Given the description of an element on the screen output the (x, y) to click on. 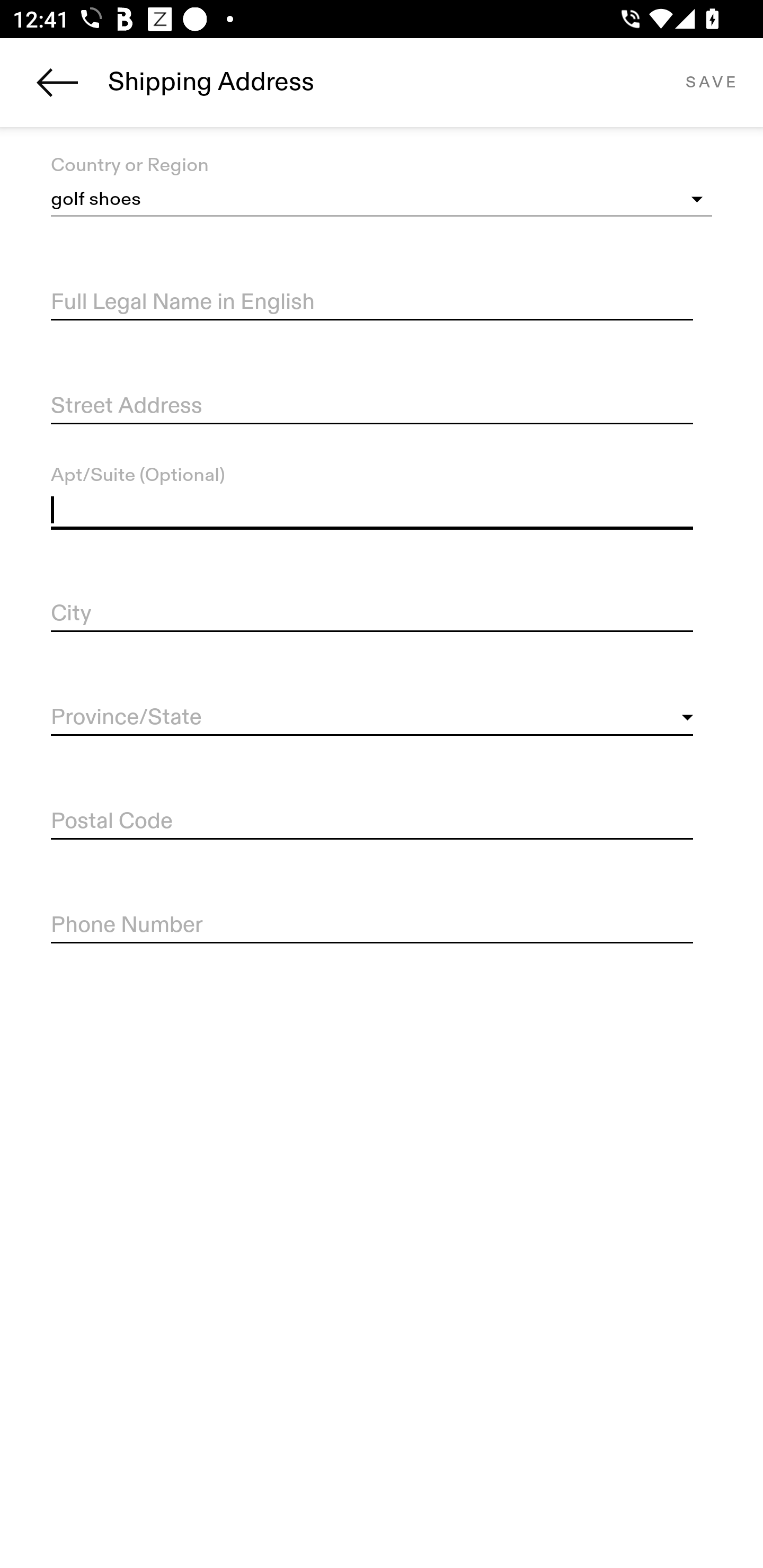
Navigate up (56, 82)
SAVE (710, 81)
golf shoes (381, 199)
Full Legal Name in English (371, 302)
Street Address (371, 406)
Apt/Suite (Optional) (371, 509)
City (371, 614)
Province/State (371, 717)
Postal Code (371, 821)
Phone Number (371, 925)
